Given the description of an element on the screen output the (x, y) to click on. 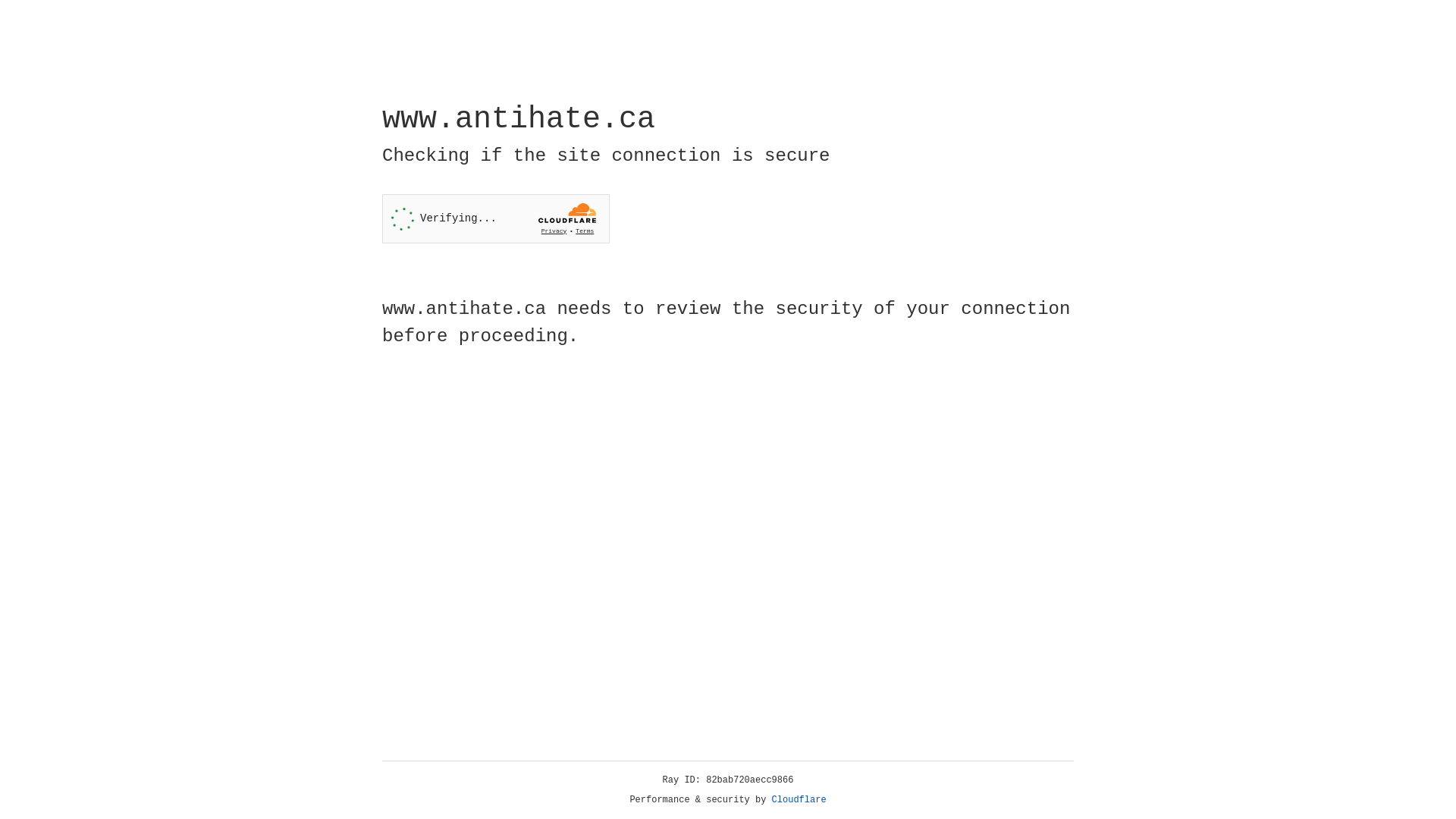
Widget containing a Cloudflare security challenge Element type: hover (495, 218)
Cloudflare Element type: text (798, 799)
